Given the description of an element on the screen output the (x, y) to click on. 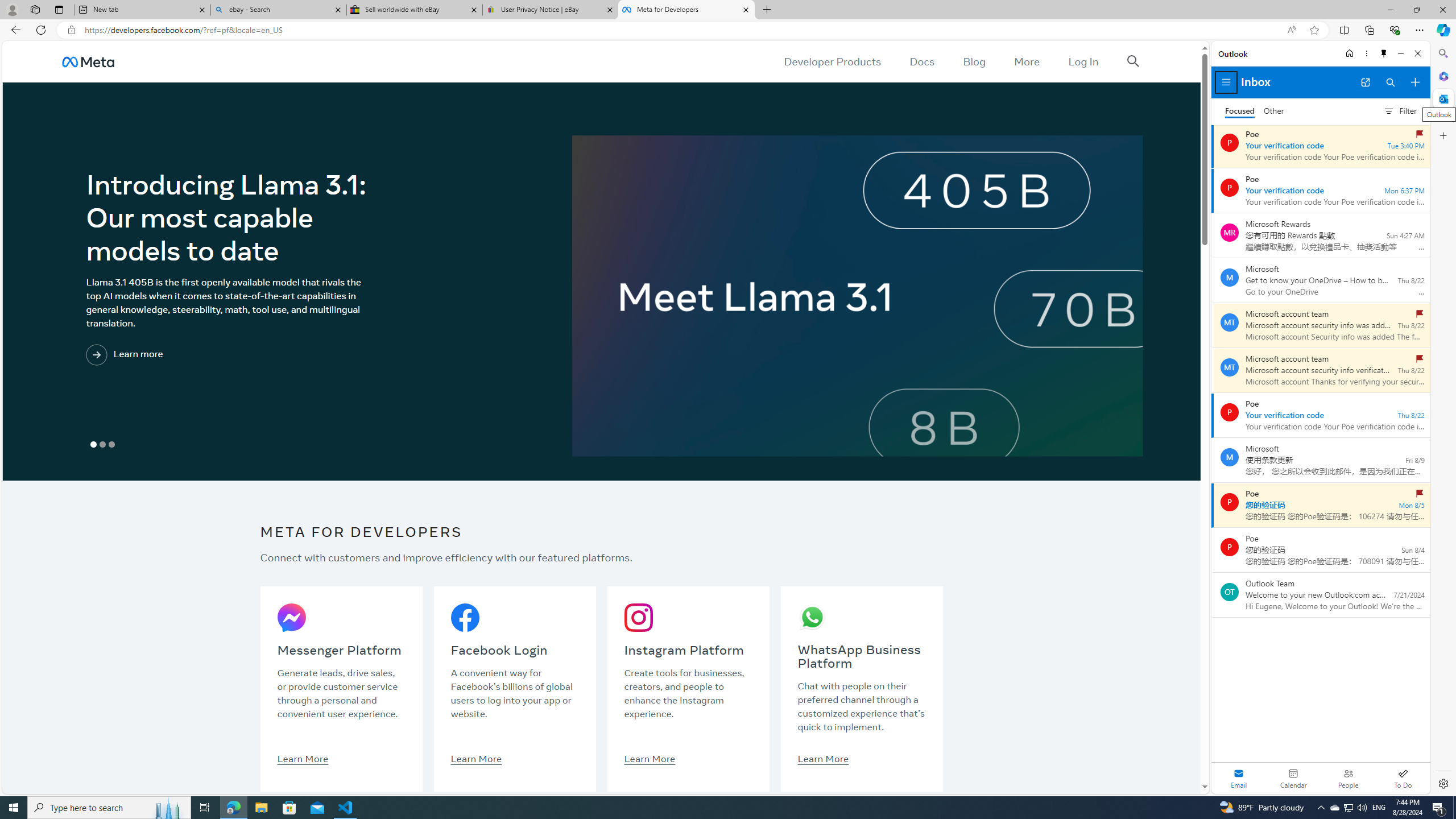
Blog (974, 61)
Focused Inbox, toggle to go to Other Inbox (1254, 110)
Log In (1083, 61)
Outlook (1442, 98)
More (1027, 61)
Developer Products (832, 61)
